Given the description of an element on the screen output the (x, y) to click on. 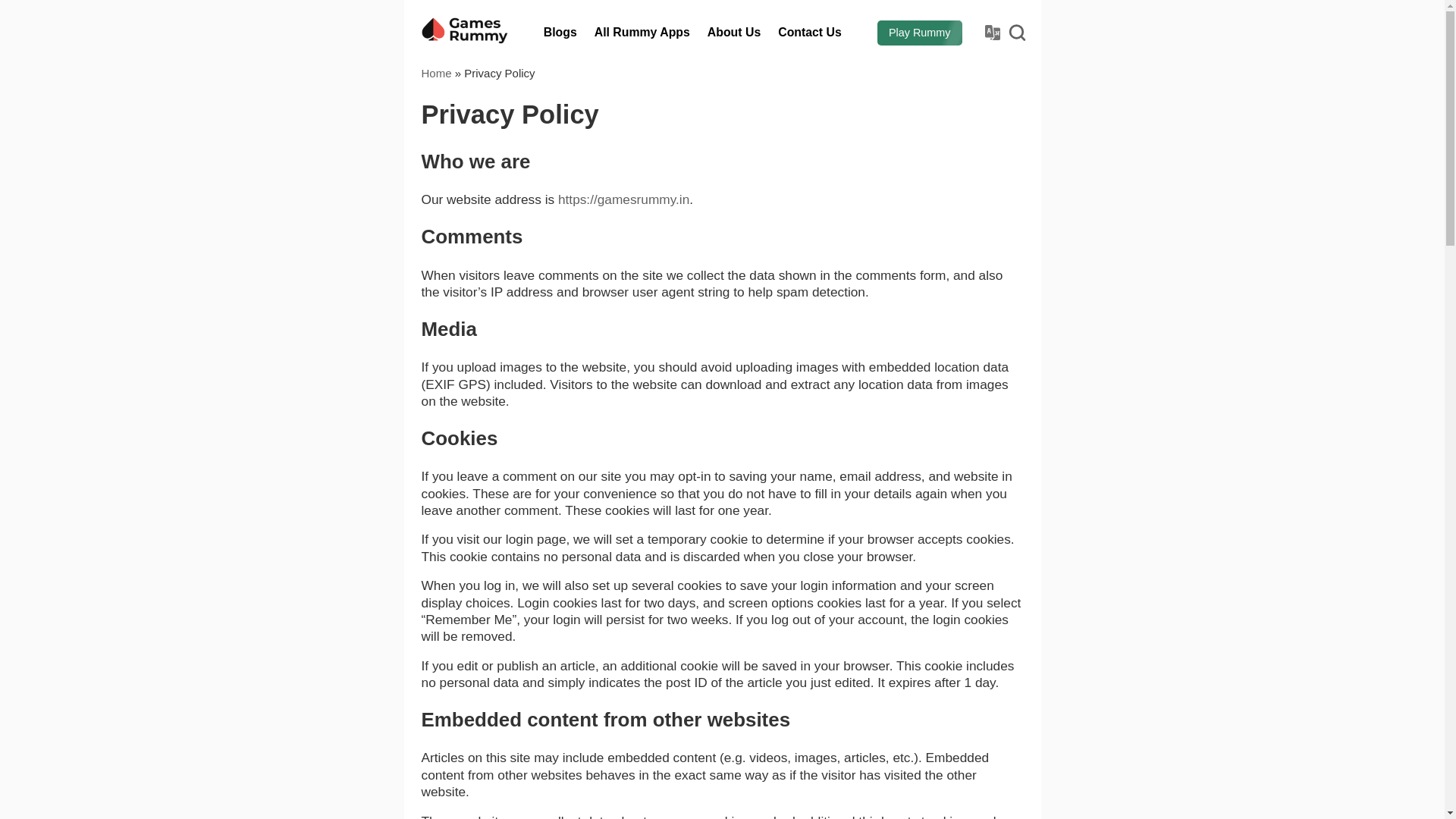
About Us (733, 32)
Contact Us (809, 32)
Play Rummy (919, 32)
Home (436, 72)
Blogs (559, 32)
GamesRummy (465, 32)
All Rummy Apps (642, 32)
